Given the description of an element on the screen output the (x, y) to click on. 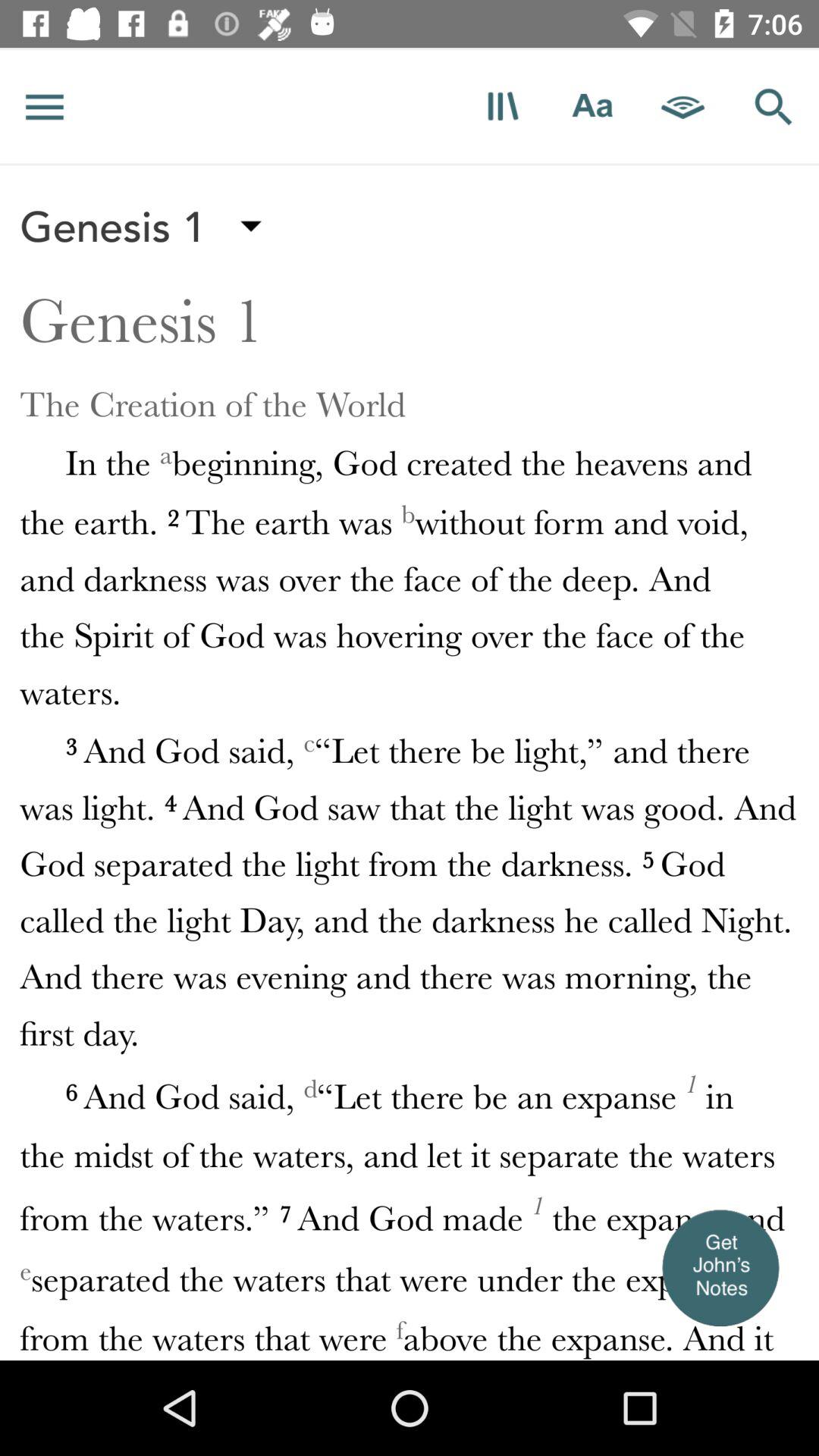
select format (502, 106)
